Given the description of an element on the screen output the (x, y) to click on. 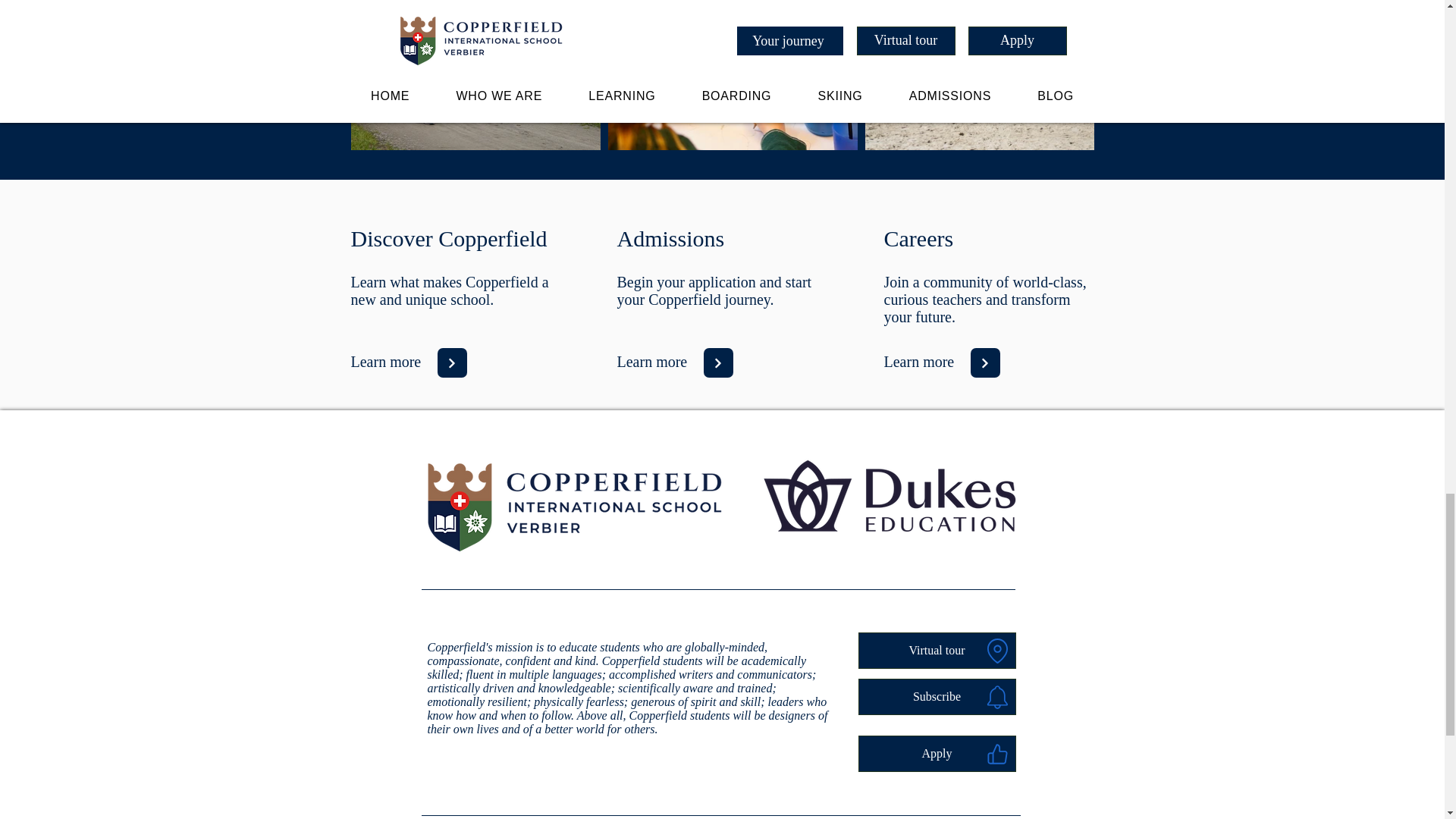
Virtual tour (937, 650)
Apply (937, 753)
Subscribe (937, 696)
